Given the description of an element on the screen output the (x, y) to click on. 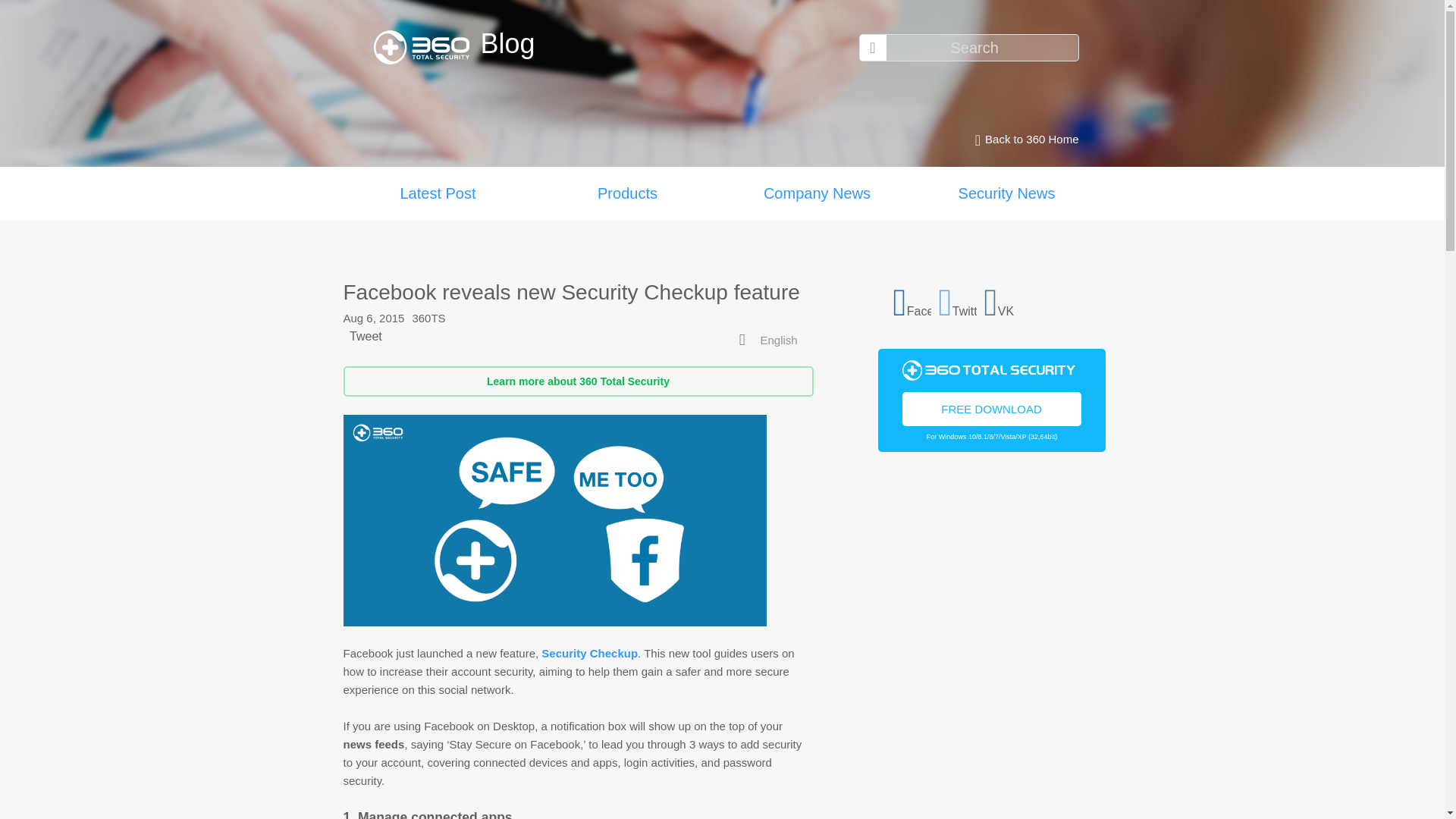
Back to 360 Home (1022, 140)
VK (1003, 299)
360 Total Security Blog Logo (426, 47)
FREE DOWNLOAD (991, 408)
Latest Post (437, 193)
Learn more about 360 Total Security (577, 381)
Facebook (912, 299)
Twitter (957, 299)
Learn more about 360 Total Security (577, 381)
Company News (816, 193)
Advertisement (991, 650)
Security News (1005, 193)
Free Download (991, 408)
Products (627, 193)
Security Checkup (589, 653)
